Given the description of an element on the screen output the (x, y) to click on. 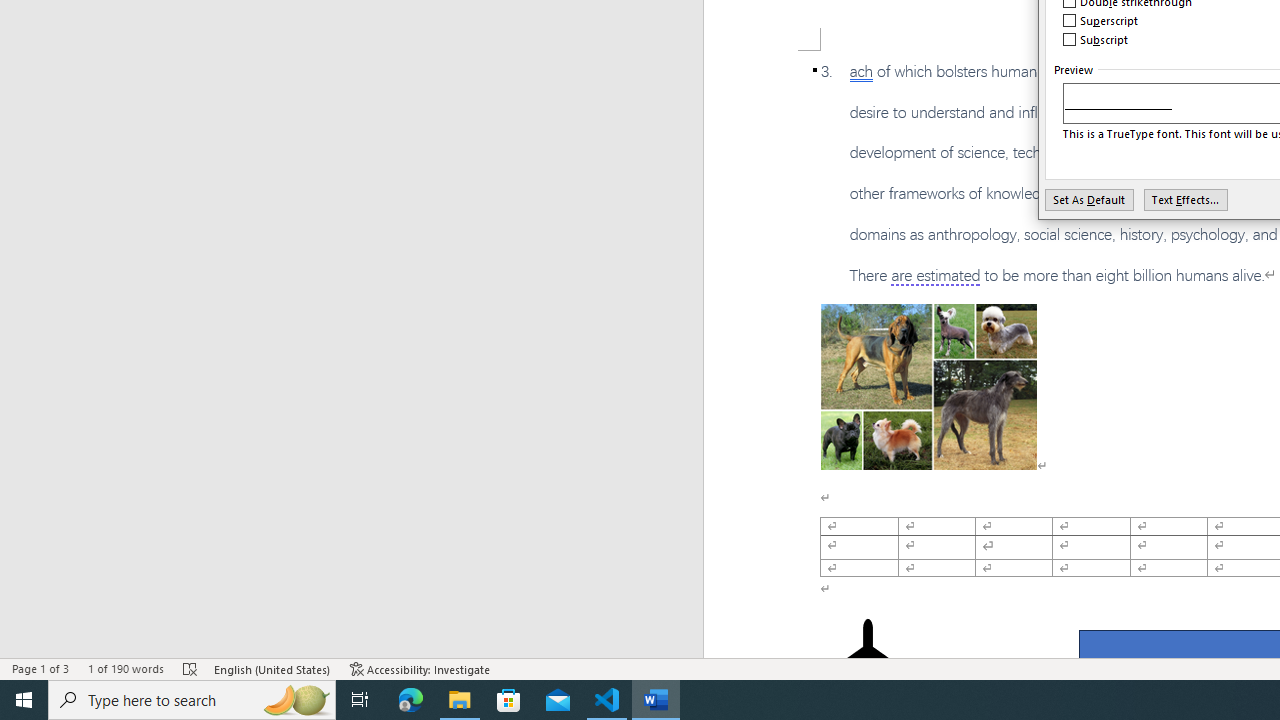
Text Effects... (1185, 199)
Airplane with solid fill (867, 657)
Type here to search (191, 699)
Superscript (1101, 20)
Subscript (1096, 39)
Language English (United States) (273, 668)
